Given the description of an element on the screen output the (x, y) to click on. 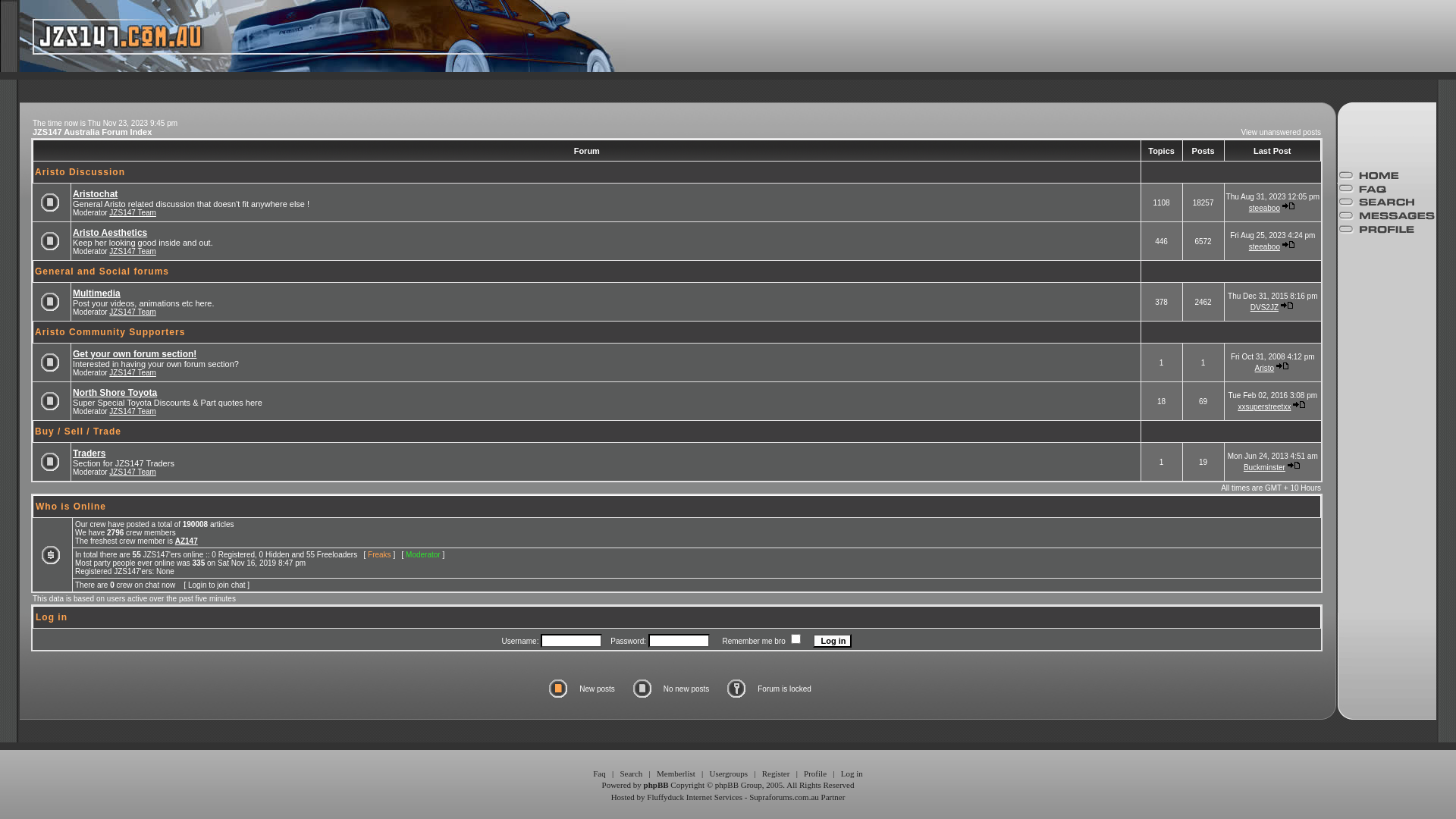
DVS2JZ Element type: text (1264, 307)
View latest post Element type: hover (1299, 404)
JZS147 Team Element type: text (132, 211)
Aristo Community Supporters Element type: text (109, 331)
No new posts Element type: hover (51, 400)
Buy / Sell / Trade Element type: text (77, 431)
Log in Element type: text (851, 773)
JZS147 Australia Forum Index Element type: text (91, 131)
Multimedia Element type: text (96, 293)
View latest post Element type: hover (1294, 465)
No new posts Element type: hover (51, 201)
No new posts Element type: hover (51, 241)
Profile Element type: text (814, 773)
Search Element type: text (630, 773)
Faq Element type: text (599, 773)
Aristochat Element type: text (94, 193)
View unanswered posts Element type: text (1281, 132)
Hosted by Fluffyduck Internet Services Element type: text (676, 796)
JZS147 Team Element type: text (132, 311)
steeaboo Element type: text (1264, 246)
JZS147 Team Element type: text (132, 410)
View latest post Element type: hover (1283, 365)
Traders Element type: text (88, 452)
No new posts Element type: hover (51, 301)
phpBB Element type: text (655, 784)
JZS147 Team Element type: text (132, 471)
JZS147 Team Element type: text (132, 372)
Who is Online Element type: text (70, 506)
No new posts Element type: hover (51, 362)
North Shore Toyota Element type: text (114, 391)
View latest post Element type: hover (1289, 205)
View latest post Element type: hover (1287, 305)
Aristo Discussion Element type: text (79, 171)
JZS147 Team Element type: text (132, 251)
xxsuperstreetxx Element type: text (1263, 406)
View latest post Element type: hover (1289, 244)
AZ147 Element type: text (186, 540)
Log in Element type: text (831, 640)
Get your own forum section! Element type: text (134, 353)
Usergroups Element type: text (728, 773)
Supraforums.com.au Partner Element type: text (796, 796)
Register Element type: text (776, 773)
Aristo Aesthetics Element type: text (109, 232)
steeaboo Element type: text (1264, 207)
Aristo Element type: text (1264, 368)
No new posts Element type: hover (51, 460)
Memberlist Element type: text (675, 773)
General and Social forums Element type: text (101, 271)
Buckminster Element type: text (1264, 467)
